Given the description of an element on the screen output the (x, y) to click on. 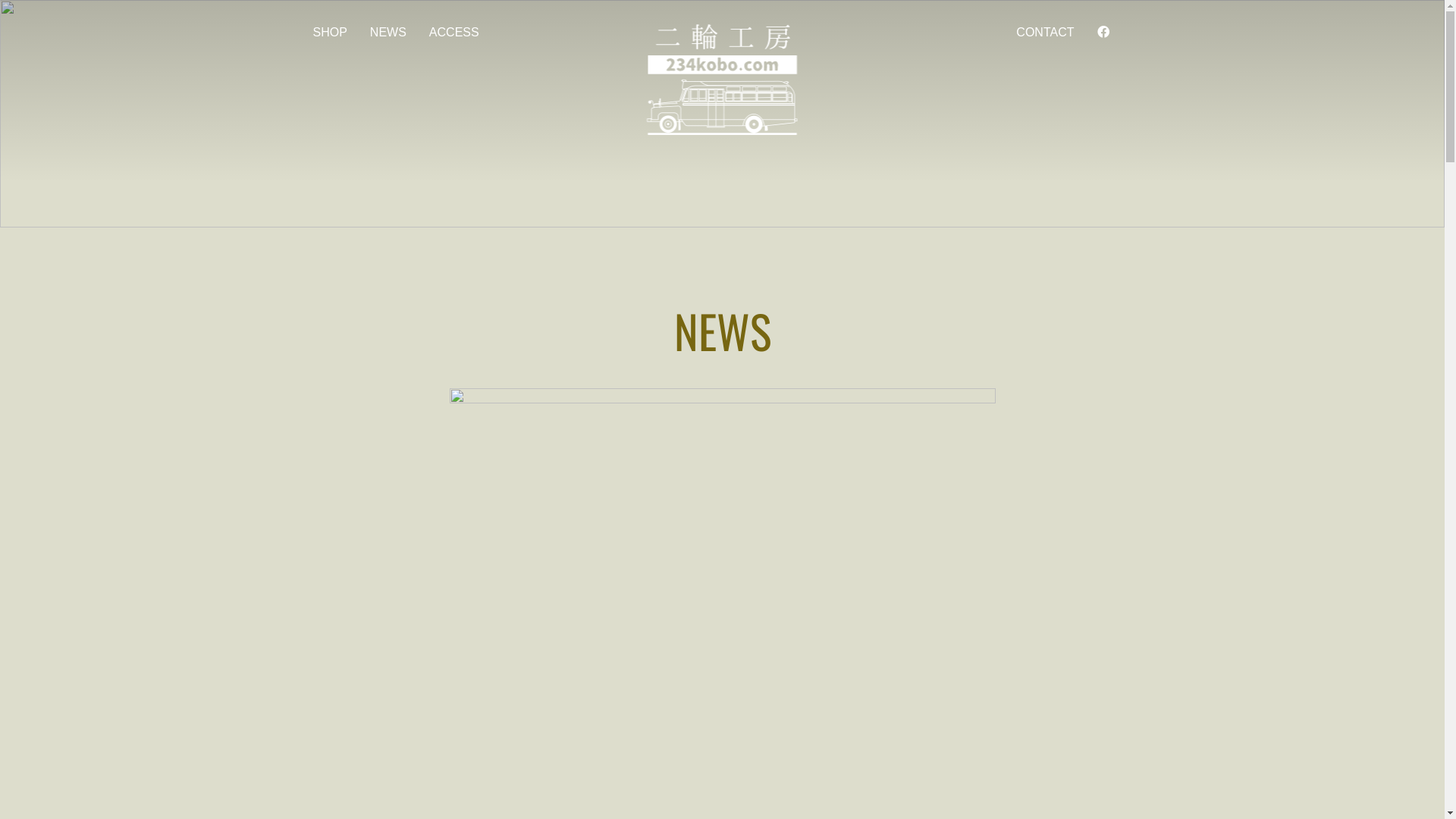
CONTACT Element type: text (1044, 31)
NEWS Element type: text (388, 31)
SHOP Element type: text (329, 31)
ACCESS Element type: text (454, 31)
